Given the description of an element on the screen output the (x, y) to click on. 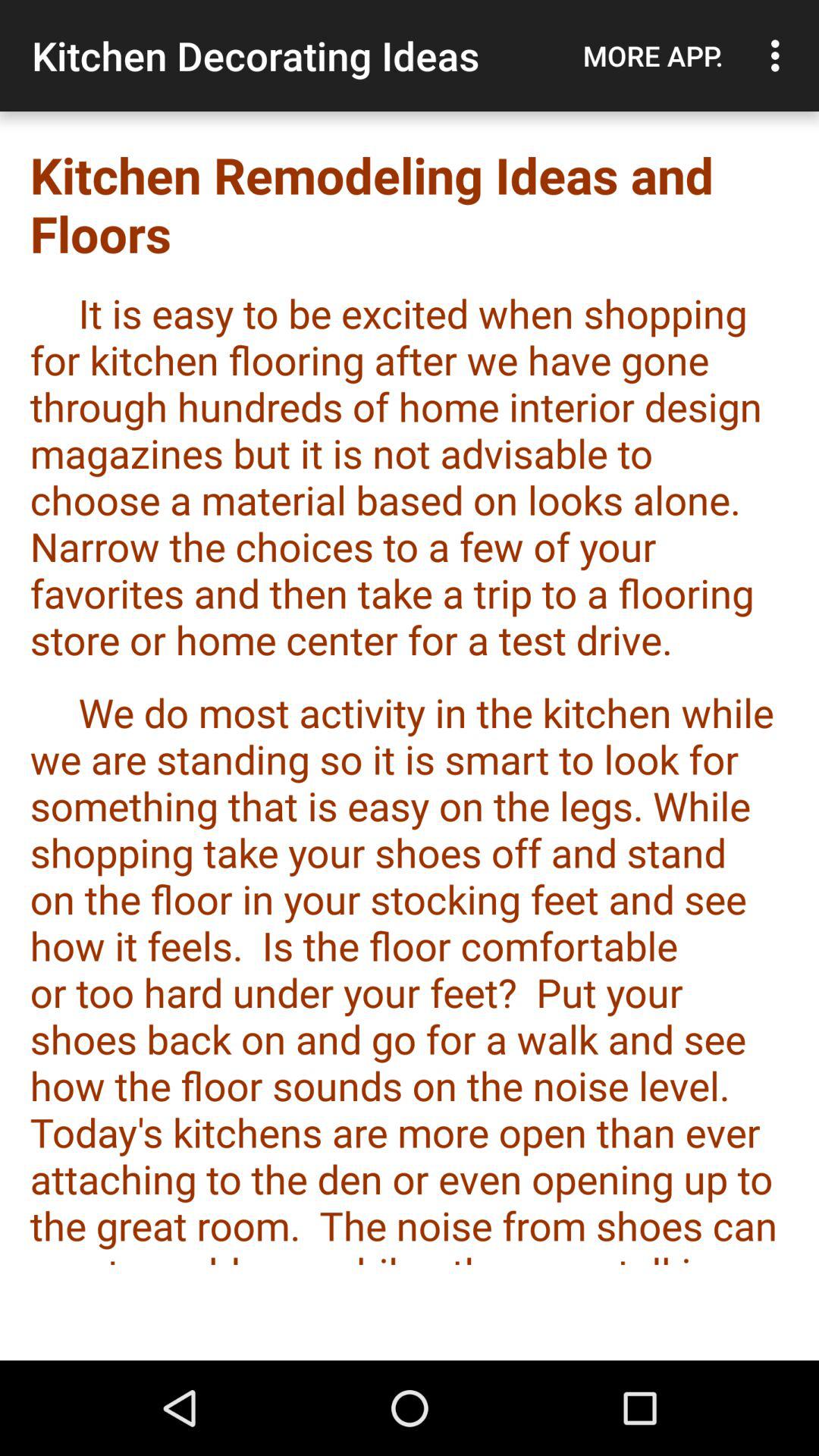
launch item next to more app. icon (779, 55)
